Given the description of an element on the screen output the (x, y) to click on. 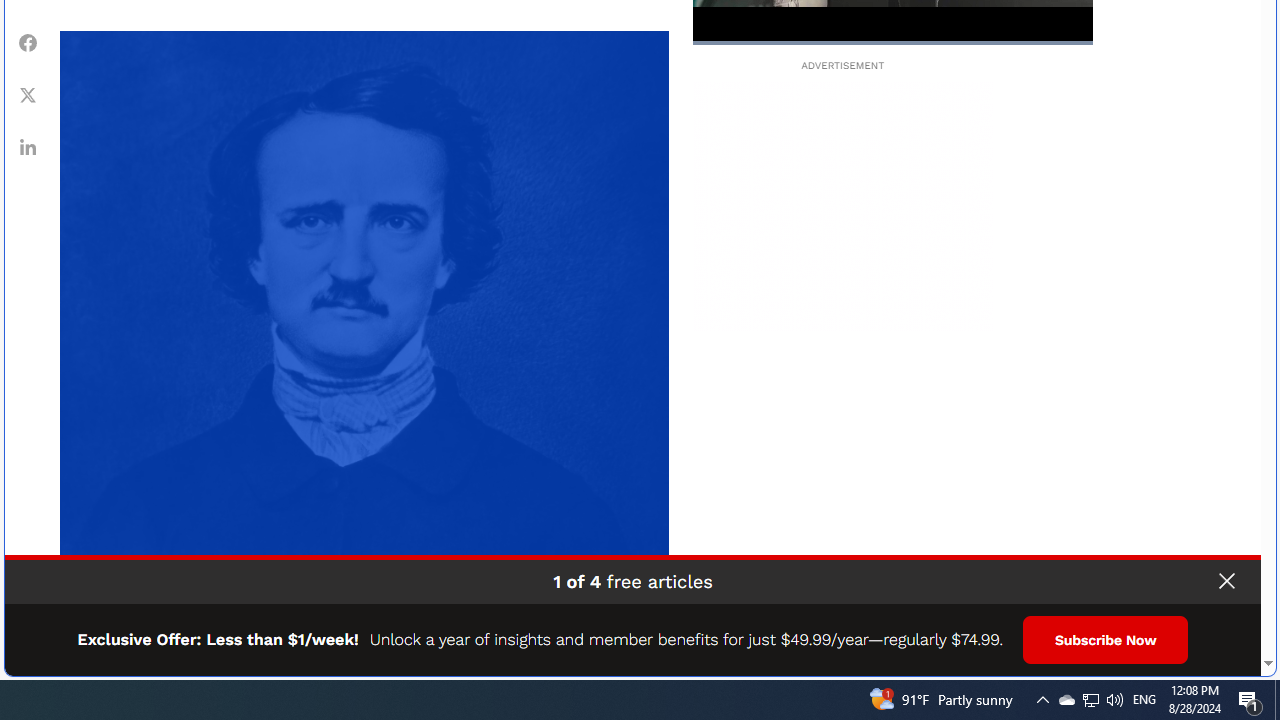
Share Facebook (28, 43)
Class: fs-icon fs-icon--linkedin (28, 147)
Share Twitter (28, 95)
Class: fs-icon fs-icon--Facebook (27, 42)
Class: fs-icon fs-icon--xCorp (28, 95)
Subscribe Now (1105, 639)
Portrait of Edgar Allan Poe. (364, 335)
Share Linkedin (28, 147)
Class: close-button unbutton (1226, 581)
Terms (1242, 653)
Seek (892, 42)
Class: article-sharing__item (28, 147)
